Given the description of an element on the screen output the (x, y) to click on. 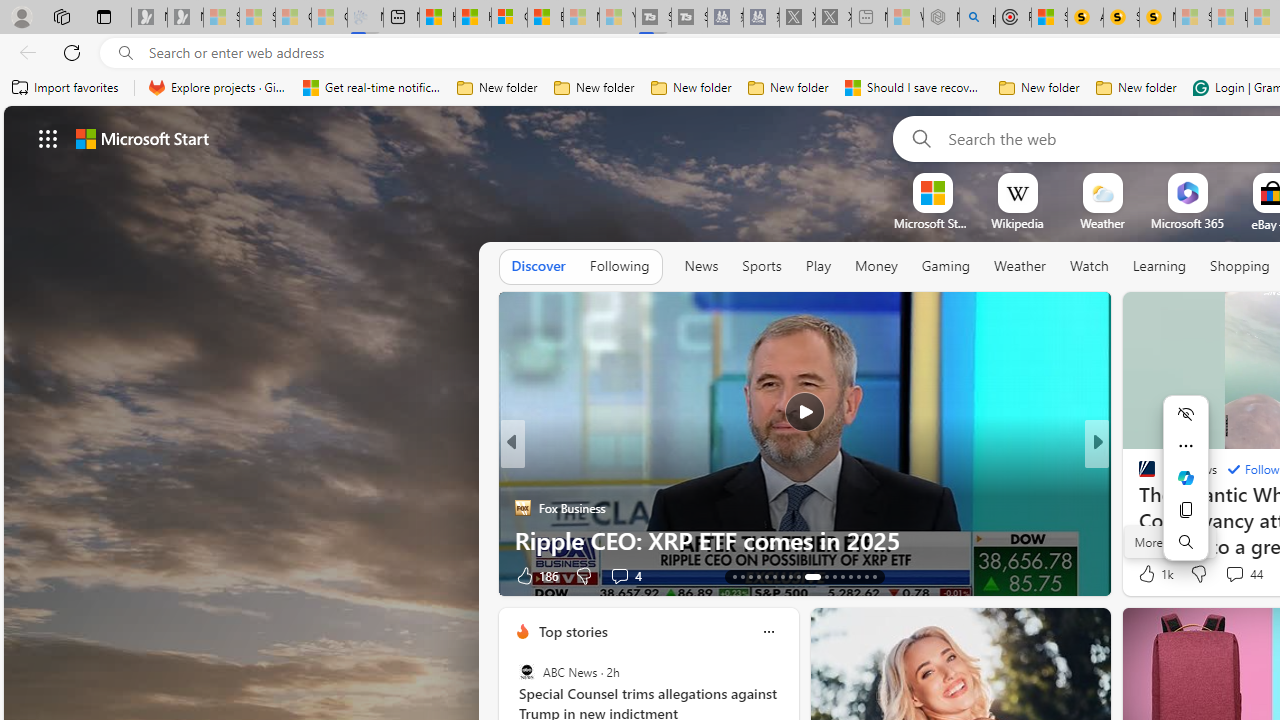
Top stories (572, 631)
Wikipedia (1017, 223)
AutomationID: tab-23 (825, 576)
View comments 4 Comment (1229, 575)
Start the conversation (1222, 574)
News (701, 267)
Streaming Coverage | T3 - Sleeping (653, 17)
92 Like (1149, 574)
Ad (1142, 575)
The Weather Channel (1138, 475)
Watch (1089, 265)
Mini menu on text selection (1185, 478)
View comments 1 Comment (1241, 574)
